Given the description of an element on the screen output the (x, y) to click on. 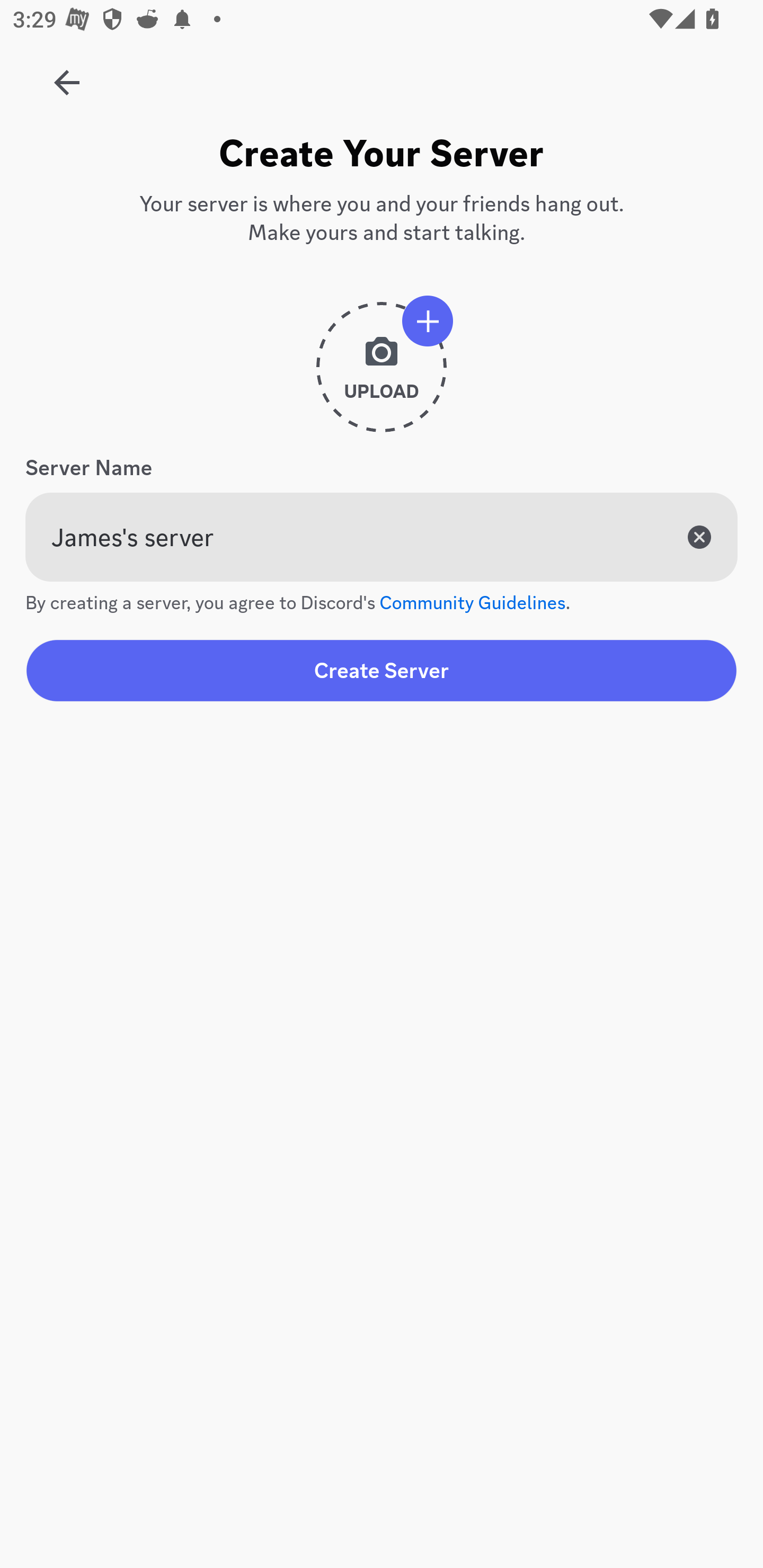
Add a Server (57, 75)
Upload Image UPLOAD (381, 373)
James's server (381, 536)
Clear (698, 536)
Create Server (381, 670)
